Given the description of an element on the screen output the (x, y) to click on. 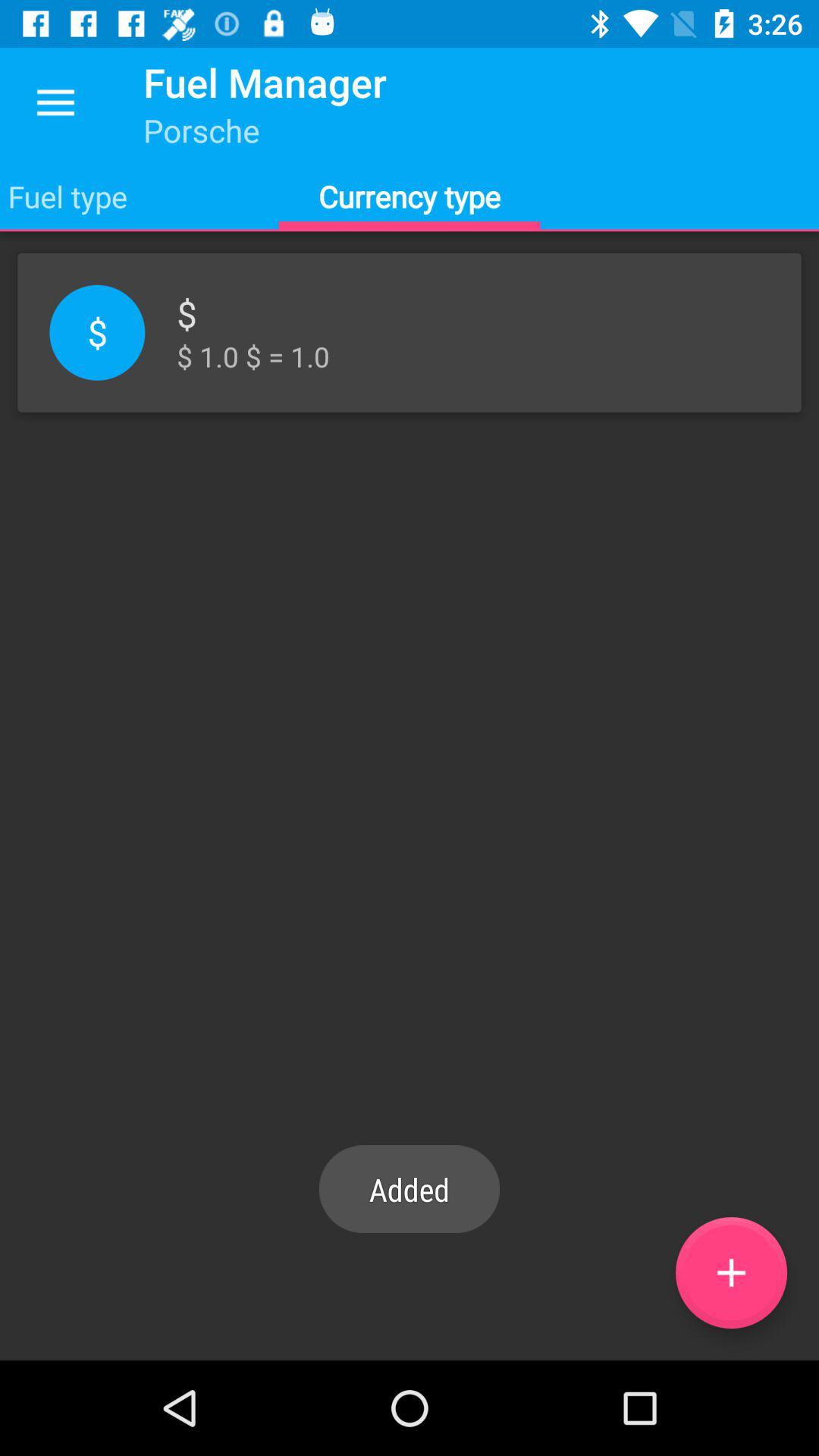
open the app to the left of the fuel manager (55, 103)
